Given the description of an element on the screen output the (x, y) to click on. 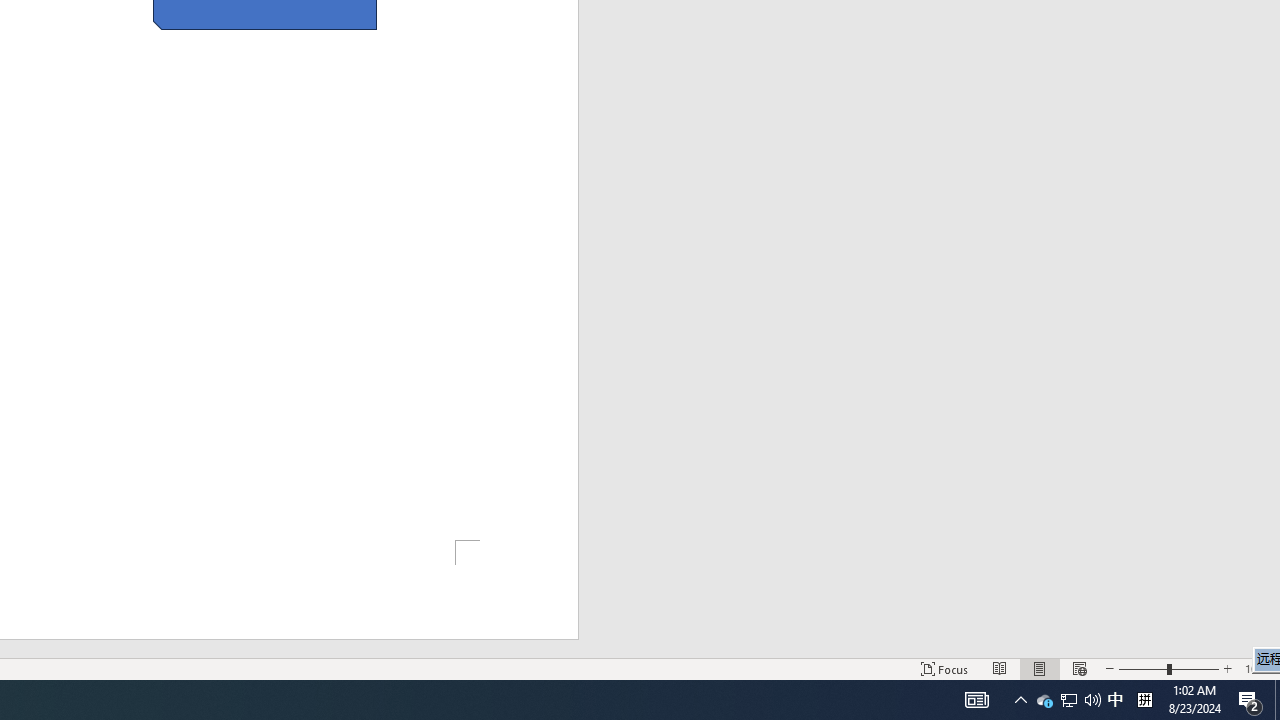
Zoom 104% (1258, 668)
Zoom (1168, 668)
